Given the description of an element on the screen output the (x, y) to click on. 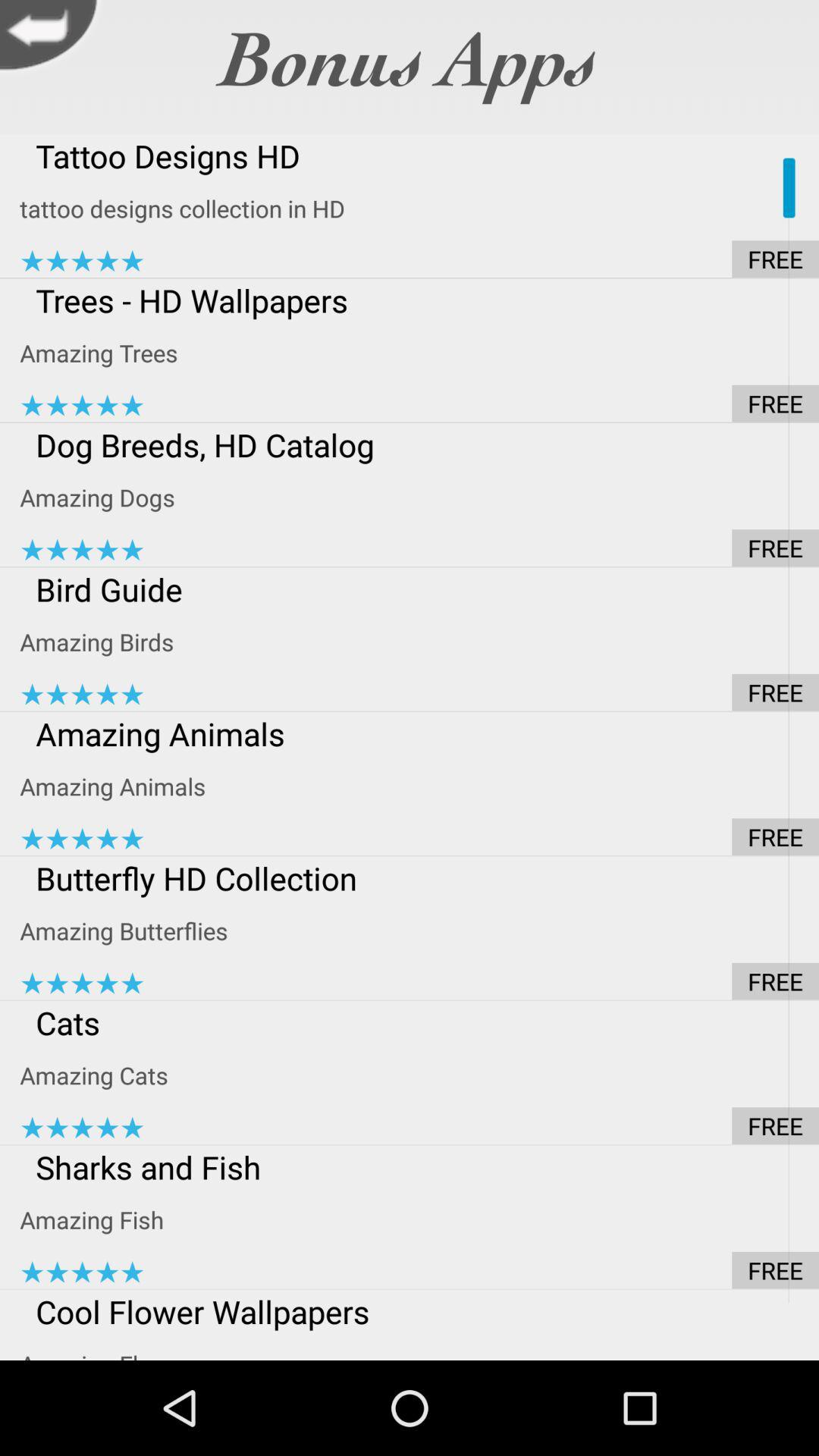
click app above   sharks and fish  app (419, 1125)
